Given the description of an element on the screen output the (x, y) to click on. 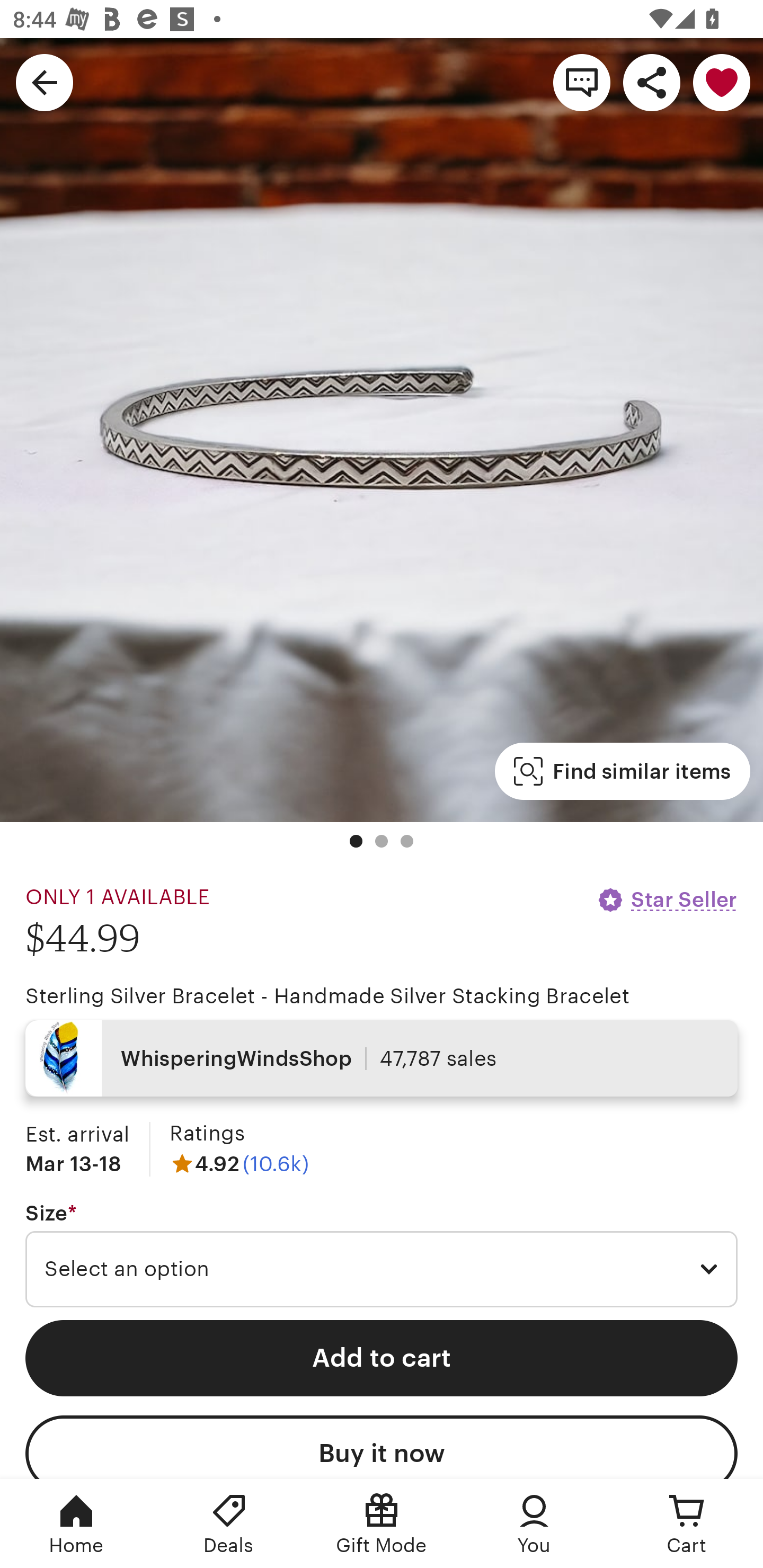
Navigate up (44, 81)
Contact shop (581, 81)
Share (651, 81)
Find similar items (622, 771)
Star Seller (666, 899)
WhisperingWindsShop 47,787 sales (381, 1058)
Ratings (206, 1133)
4.92 (10.6k) (239, 1163)
Size * Required Select an option (381, 1254)
Select an option (381, 1268)
Add to cart (381, 1358)
Buy it now (381, 1446)
Deals (228, 1523)
Gift Mode (381, 1523)
You (533, 1523)
Cart (686, 1523)
